Given the description of an element on the screen output the (x, y) to click on. 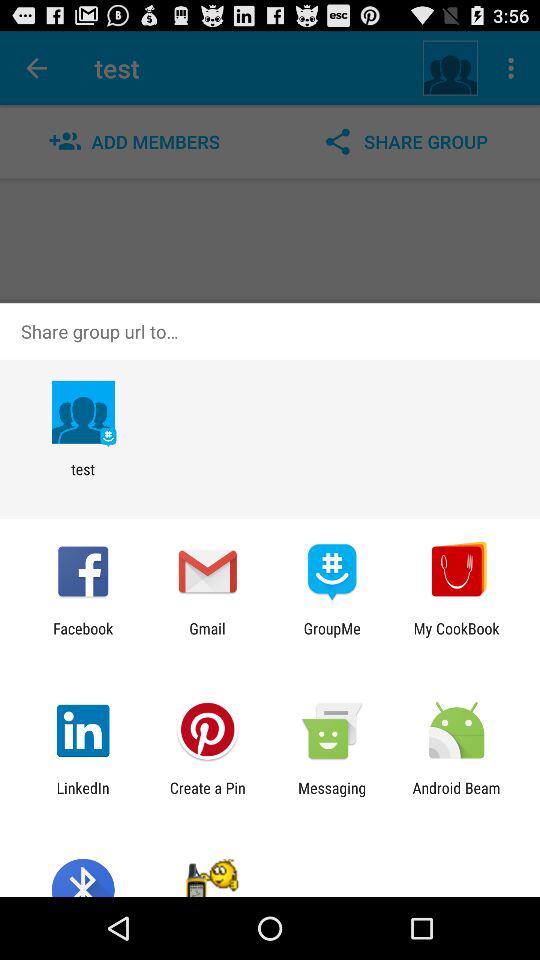
choose the gmail item (207, 637)
